Given the description of an element on the screen output the (x, y) to click on. 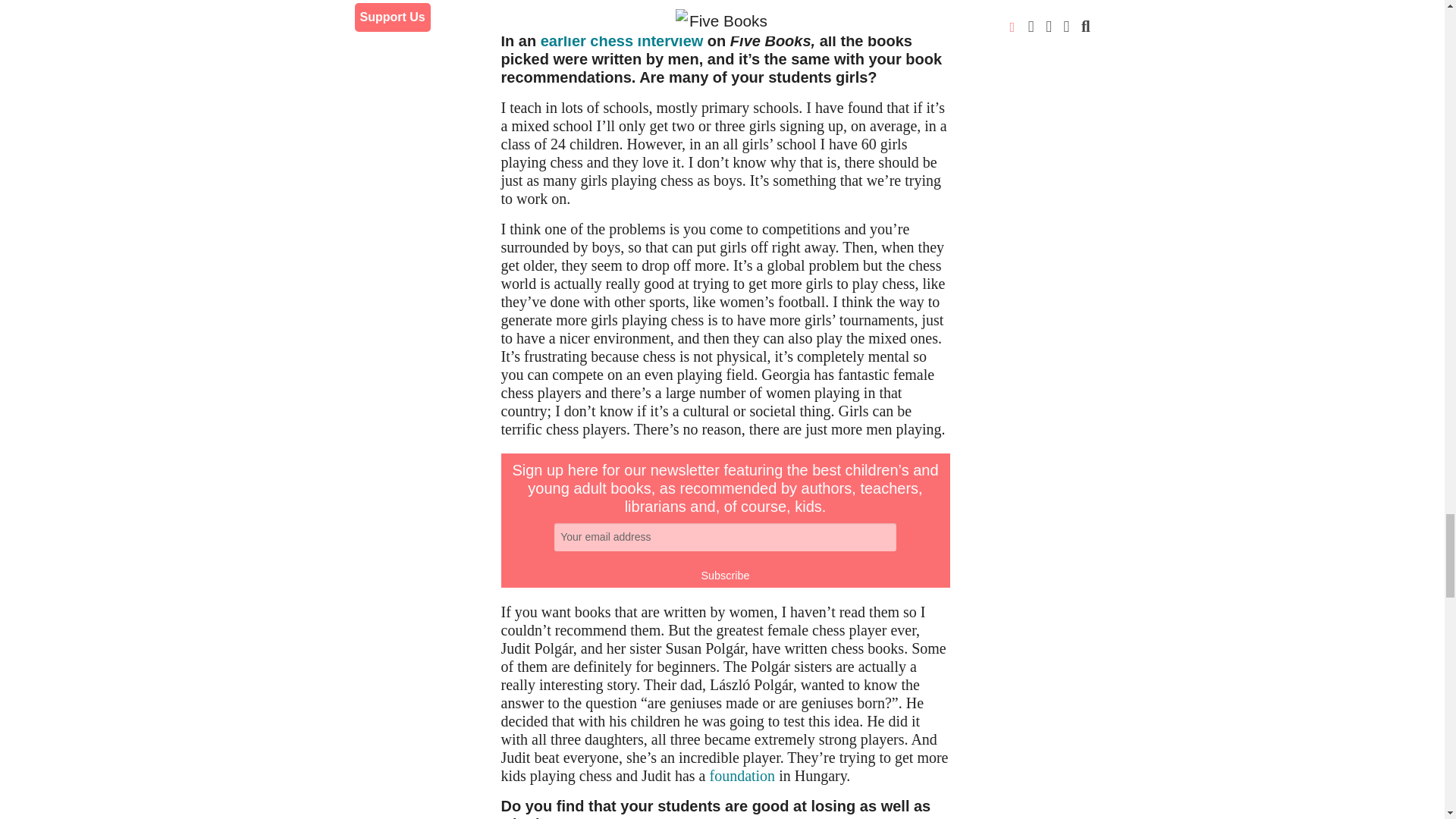
Subscribe (724, 575)
